Given the description of an element on the screen output the (x, y) to click on. 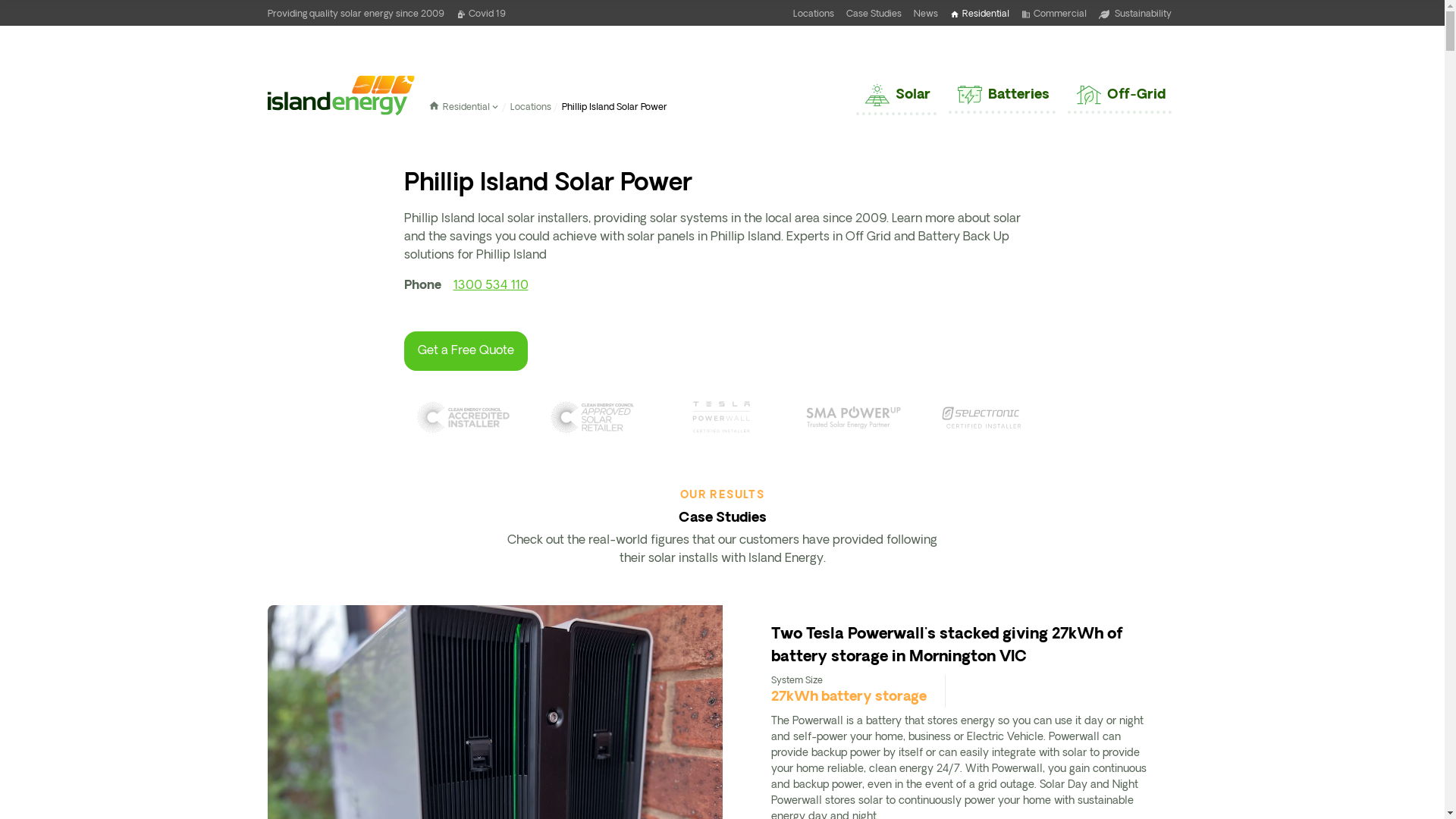
News Element type: text (925, 12)
business
Commercial Element type: text (1053, 12)
Case Studies Element type: text (873, 12)
Get a Free Quote Element type: text (465, 350)
Sustainability Element type: text (1134, 12)
Solar Element type: text (895, 94)
home
Residential Element type: text (979, 12)
Locations Element type: text (813, 12)
1300 534 110 Element type: text (490, 291)
Off-Grid Element type: text (1119, 94)
Locations Element type: text (530, 108)
Batteries Element type: text (1000, 94)
Phillip Island Solar Power Element type: text (614, 108)
